Given the description of an element on the screen output the (x, y) to click on. 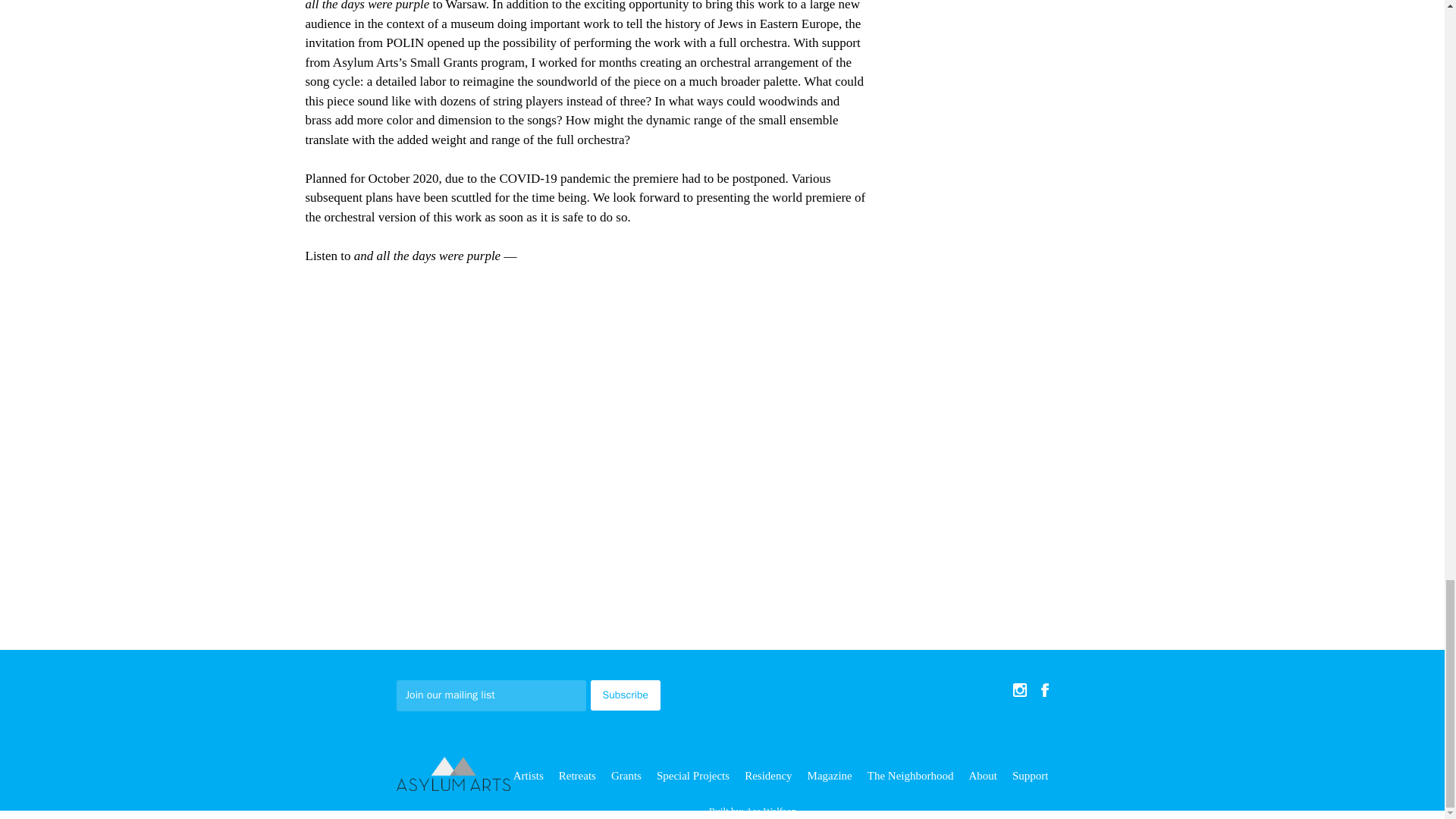
Subscribe (625, 694)
